Given the description of an element on the screen output the (x, y) to click on. 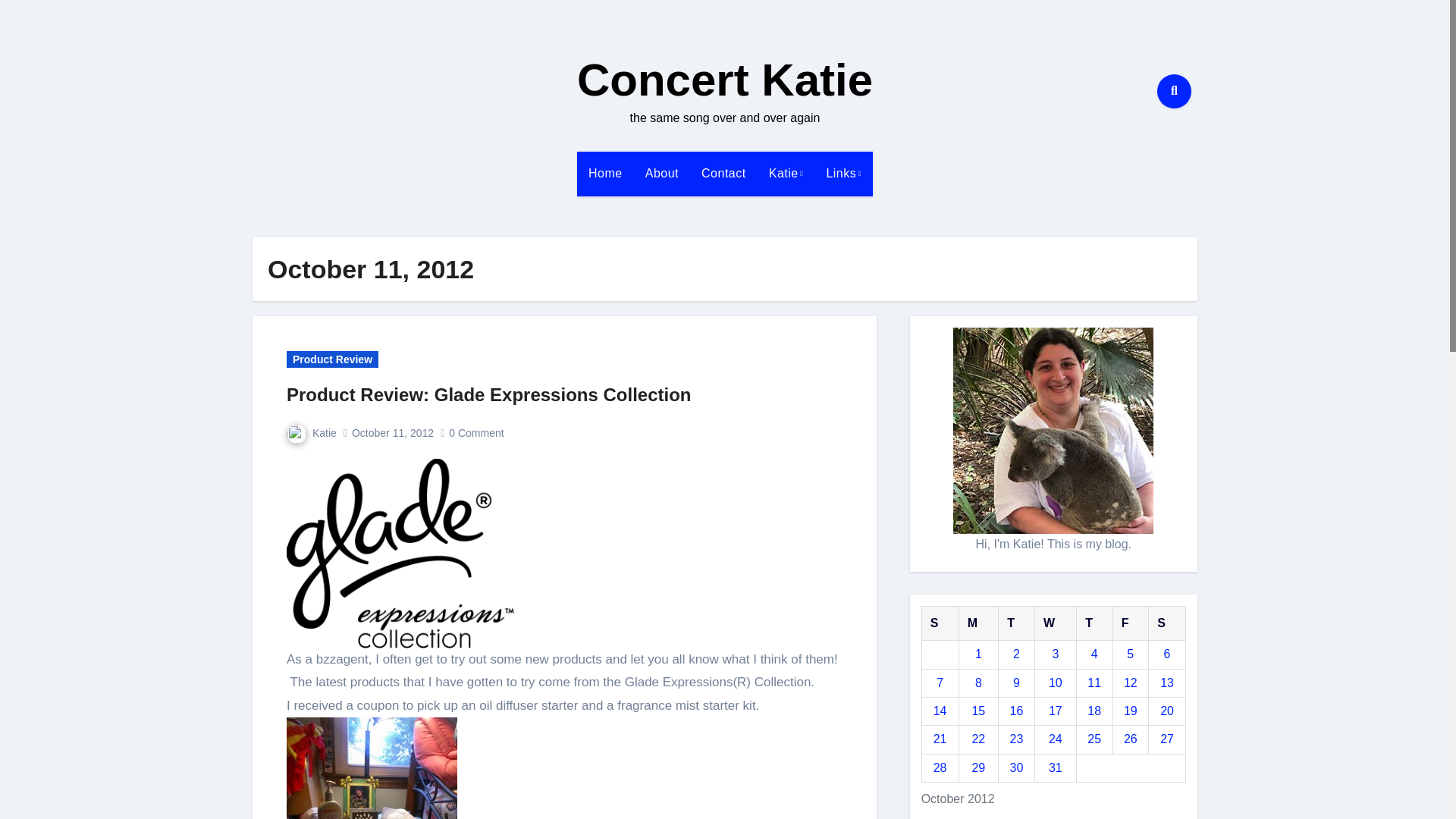
Product Review (332, 359)
Concert Katie (724, 79)
About (661, 173)
Home (604, 173)
glade (399, 553)
0Comment (477, 432)
Contact (723, 173)
October 11, 2012 (392, 432)
Katie (786, 173)
Links (842, 173)
Diffuser (371, 768)
Monday (978, 622)
Home (604, 173)
Tuesday (1016, 622)
Thursday (1093, 622)
